Given the description of an element on the screen output the (x, y) to click on. 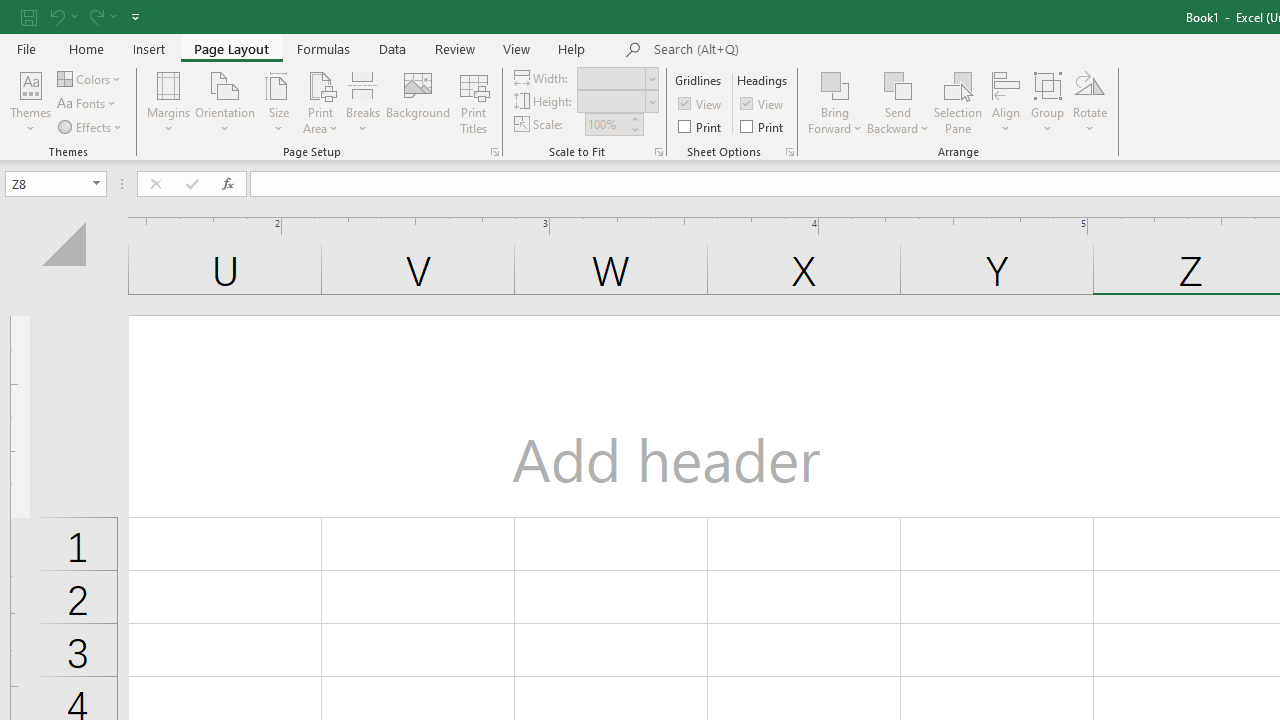
Customize Quick Access Toolbar (135, 15)
Colors (90, 78)
System (10, 11)
Less (633, 129)
Microsoft search (792, 49)
Themes (30, 102)
Effects (91, 126)
Size (278, 102)
Name Box (46, 183)
Print Titles (474, 102)
Bring Forward (835, 102)
Selection Pane... (958, 102)
Send Backward (898, 102)
Undo (62, 15)
Background... (418, 102)
